Given the description of an element on the screen output the (x, y) to click on. 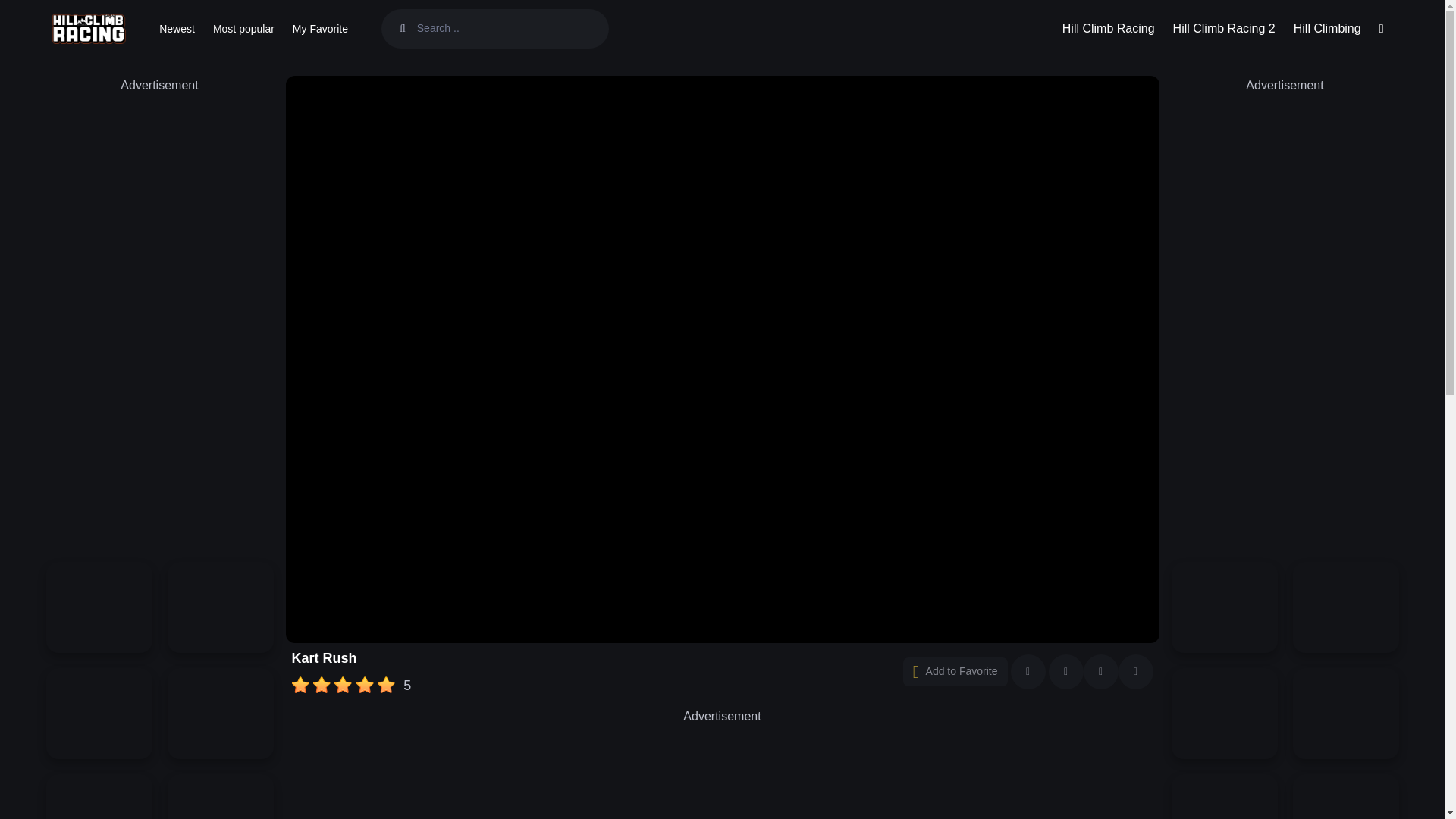
poor (322, 685)
Add to Favorites (954, 671)
Comment (35, 14)
Hill Climbing (1327, 29)
Add to Favorite (954, 671)
regular (343, 685)
Newest (176, 28)
My Favorite (319, 28)
Hill Climb Racing (1107, 29)
Advertisement (721, 772)
